Given the description of an element on the screen output the (x, y) to click on. 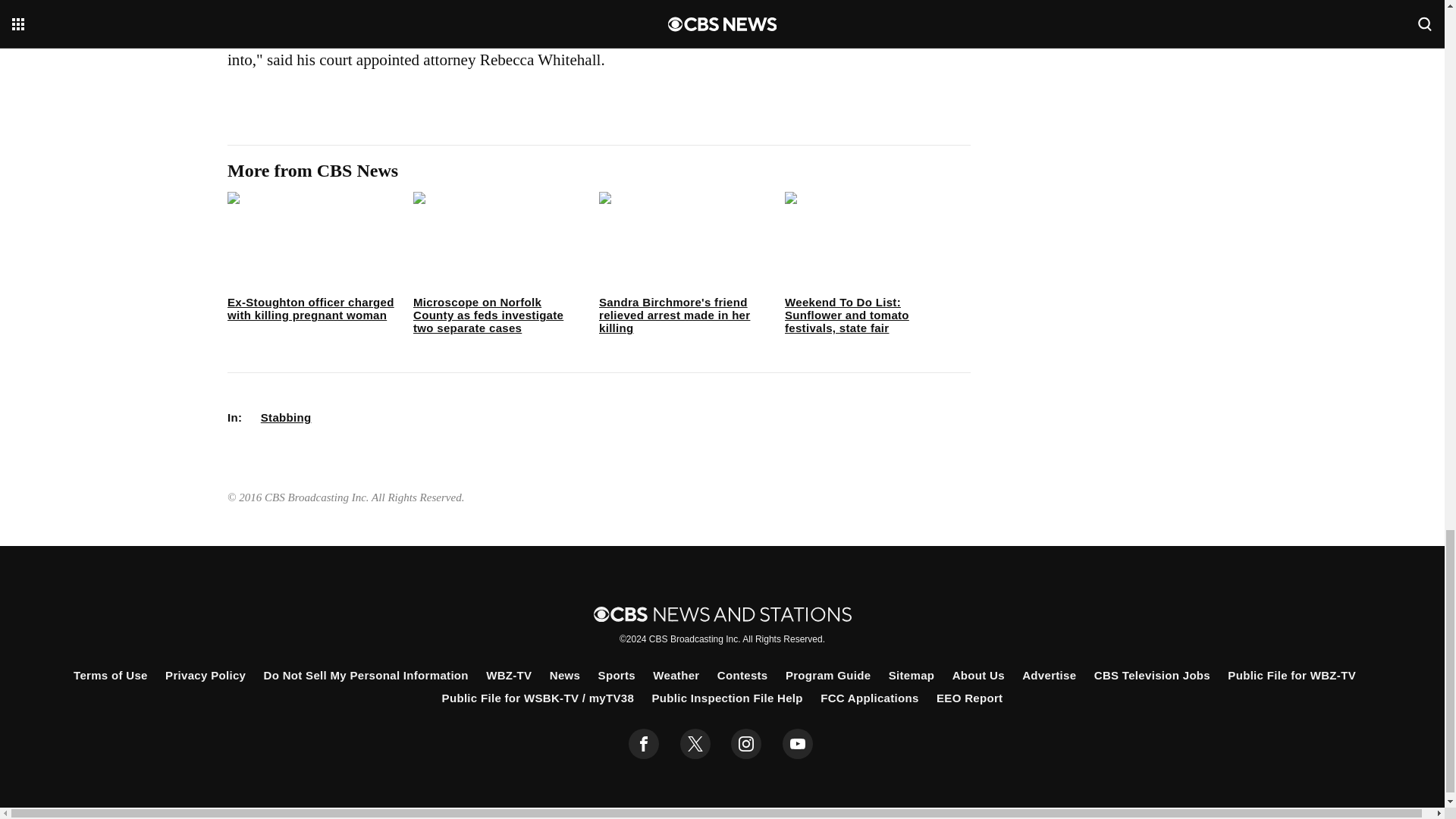
youtube (797, 743)
twitter (694, 743)
facebook (643, 743)
instagram (745, 743)
